Given the description of an element on the screen output the (x, y) to click on. 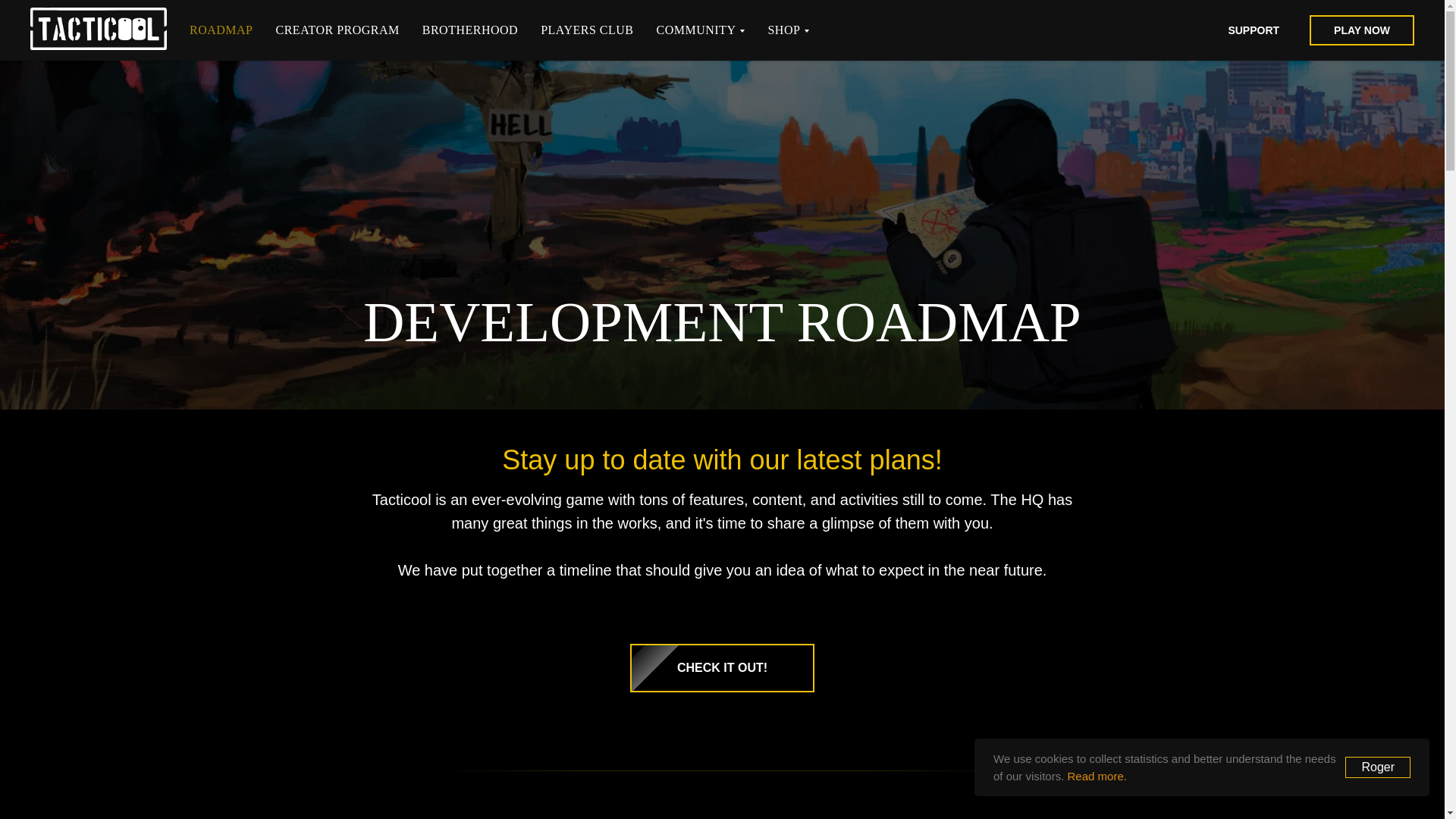
BROTHERHOOD (470, 29)
COMMUNITY (700, 29)
PLAYERS CLUB (586, 29)
PLAY NOW (1360, 30)
CHECK IT OUT! (721, 667)
SHOP (788, 29)
CREATOR PROGRAM (337, 29)
SUPPORT (1253, 30)
ROADMAP (221, 29)
